Given the description of an element on the screen output the (x, y) to click on. 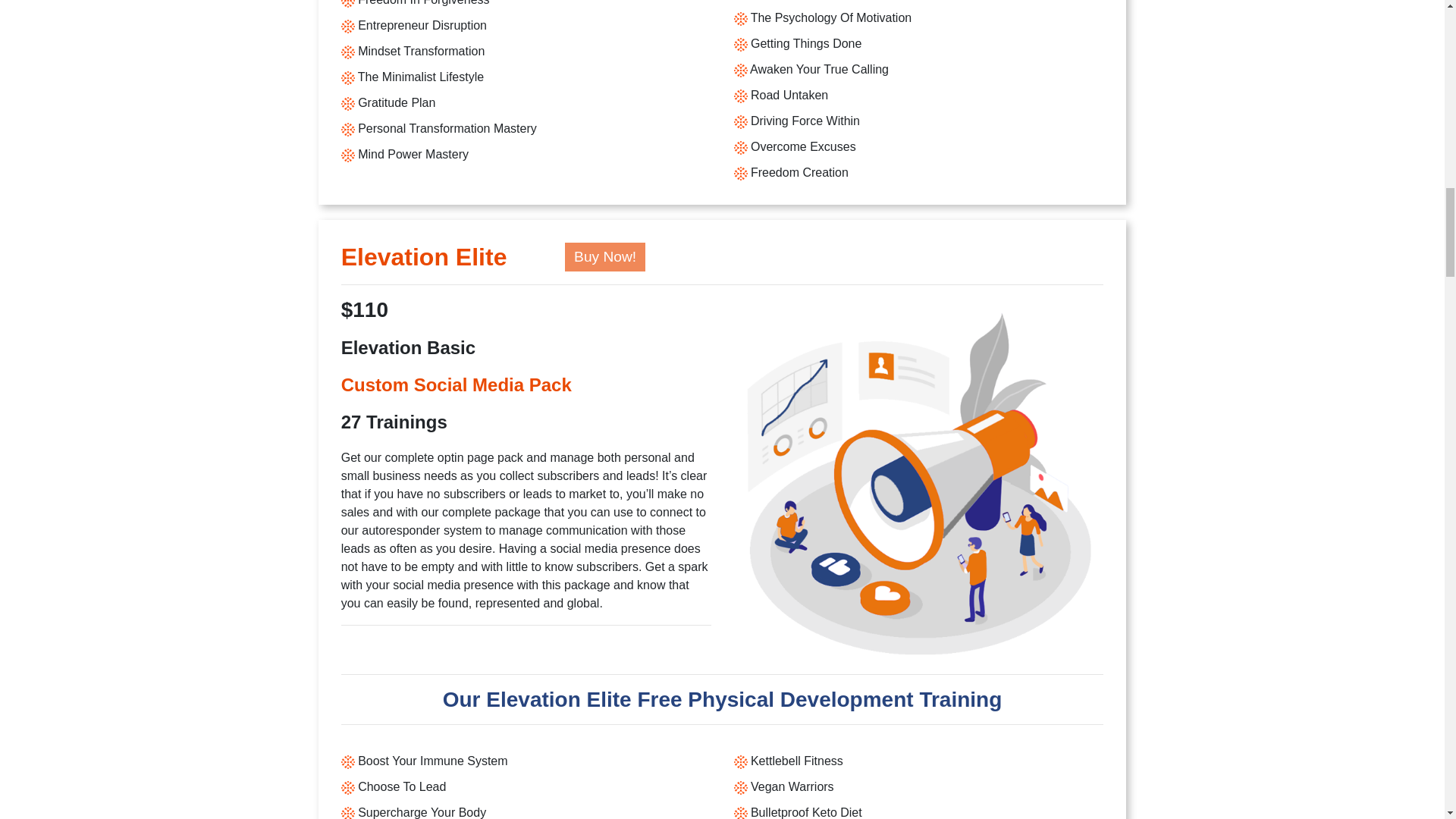
Buy Now! (604, 256)
